Given the description of an element on the screen output the (x, y) to click on. 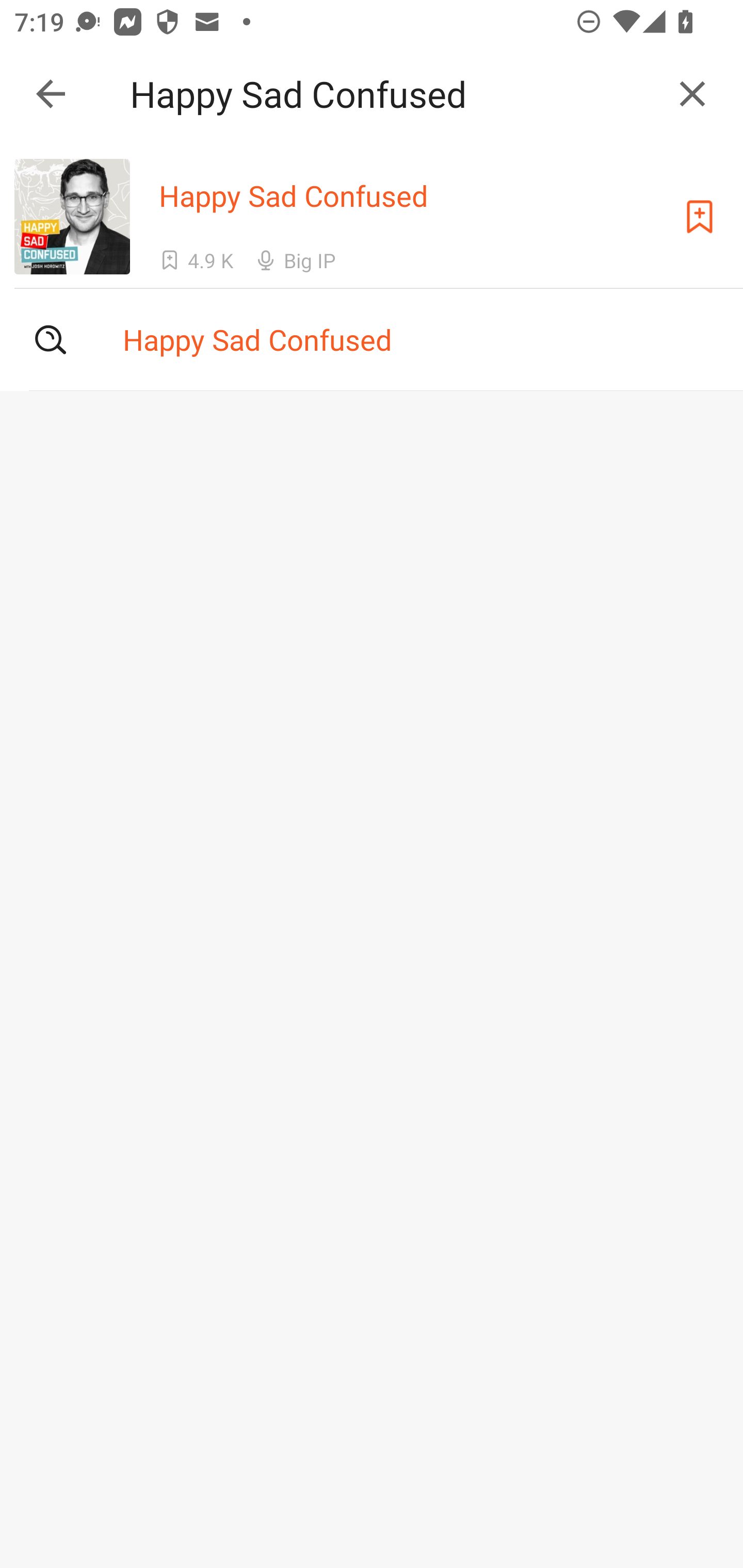
Collapse (50, 93)
Clear query (692, 93)
Happy Sad Confused (393, 94)
Subscribe (699, 216)
 Happy Sad Confused (371, 339)
